Given the description of an element on the screen output the (x, y) to click on. 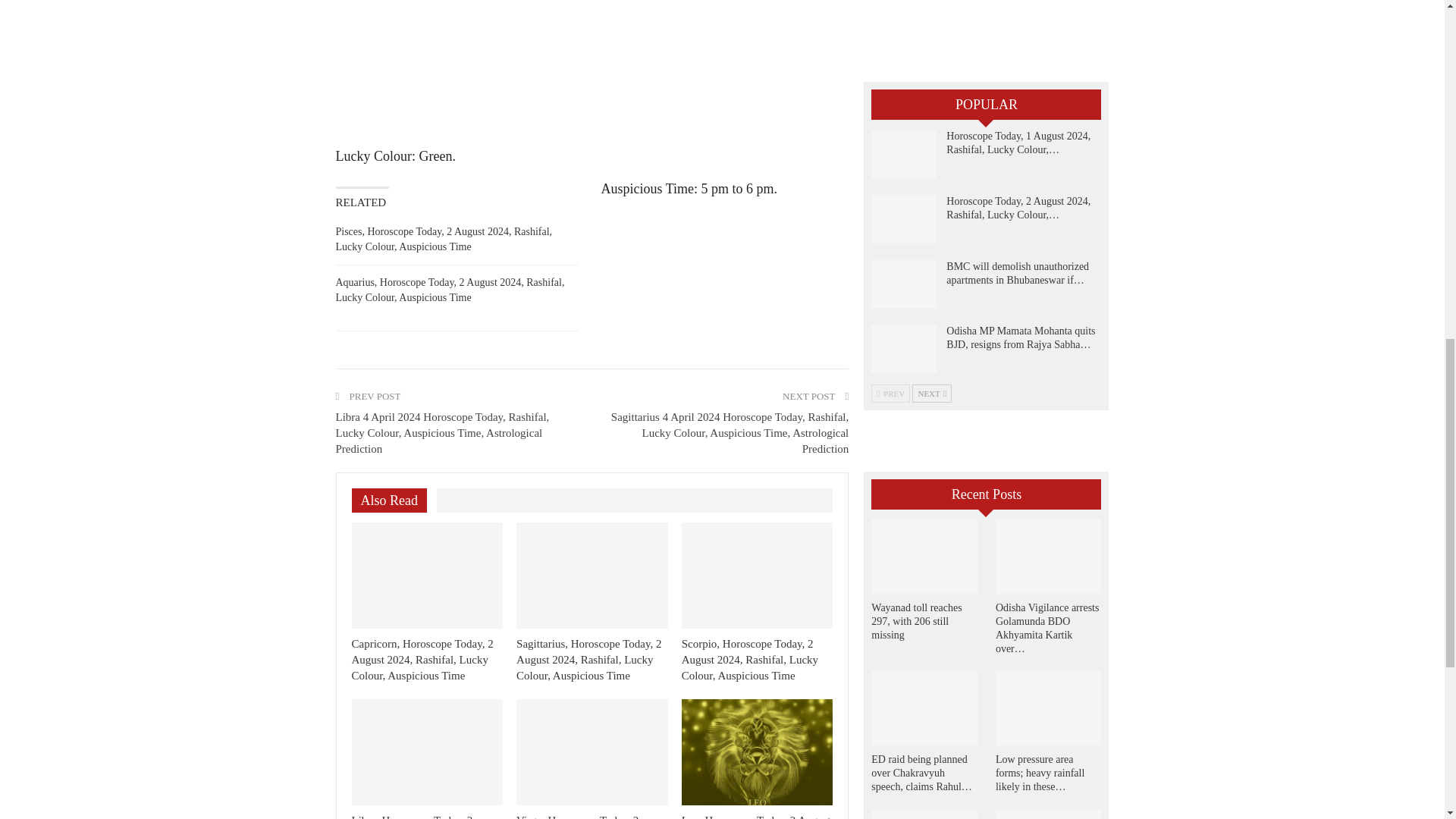
Advertisement (591, 67)
